Given the description of an element on the screen output the (x, y) to click on. 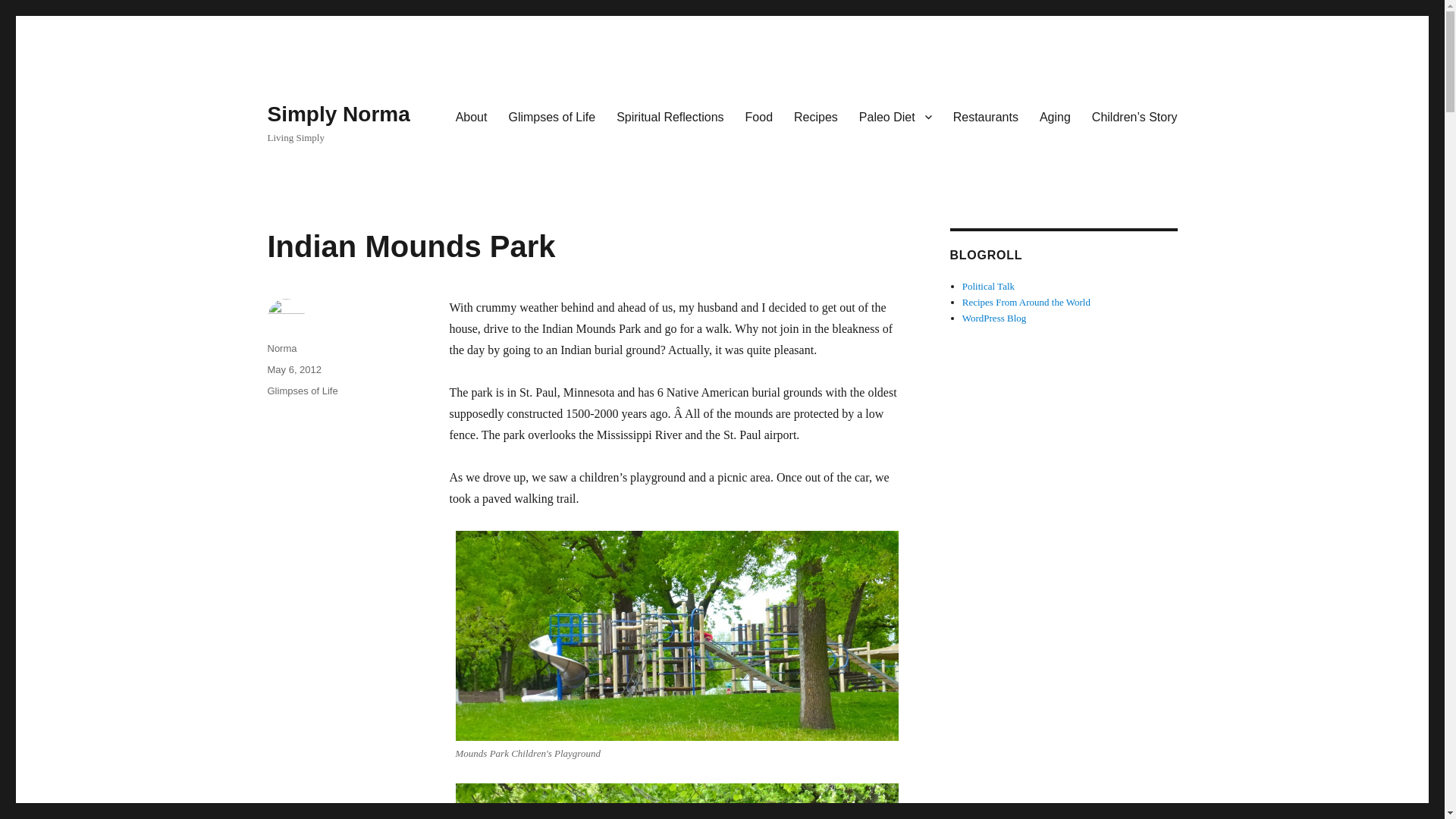
May 6, 2012 (293, 369)
Aging (1055, 116)
Mounds Park Picnic Area (676, 800)
Simply Norma (337, 114)
Recipes From Around the World (1026, 301)
Restaurants (985, 116)
Recipes (815, 116)
Food (759, 116)
Paleo Diet (895, 116)
About (471, 116)
Norma (281, 348)
Glimpses of Life (301, 390)
Spiritual Reflections (669, 116)
Political Talk (988, 285)
Glimpses of Life (551, 116)
